Given the description of an element on the screen output the (x, y) to click on. 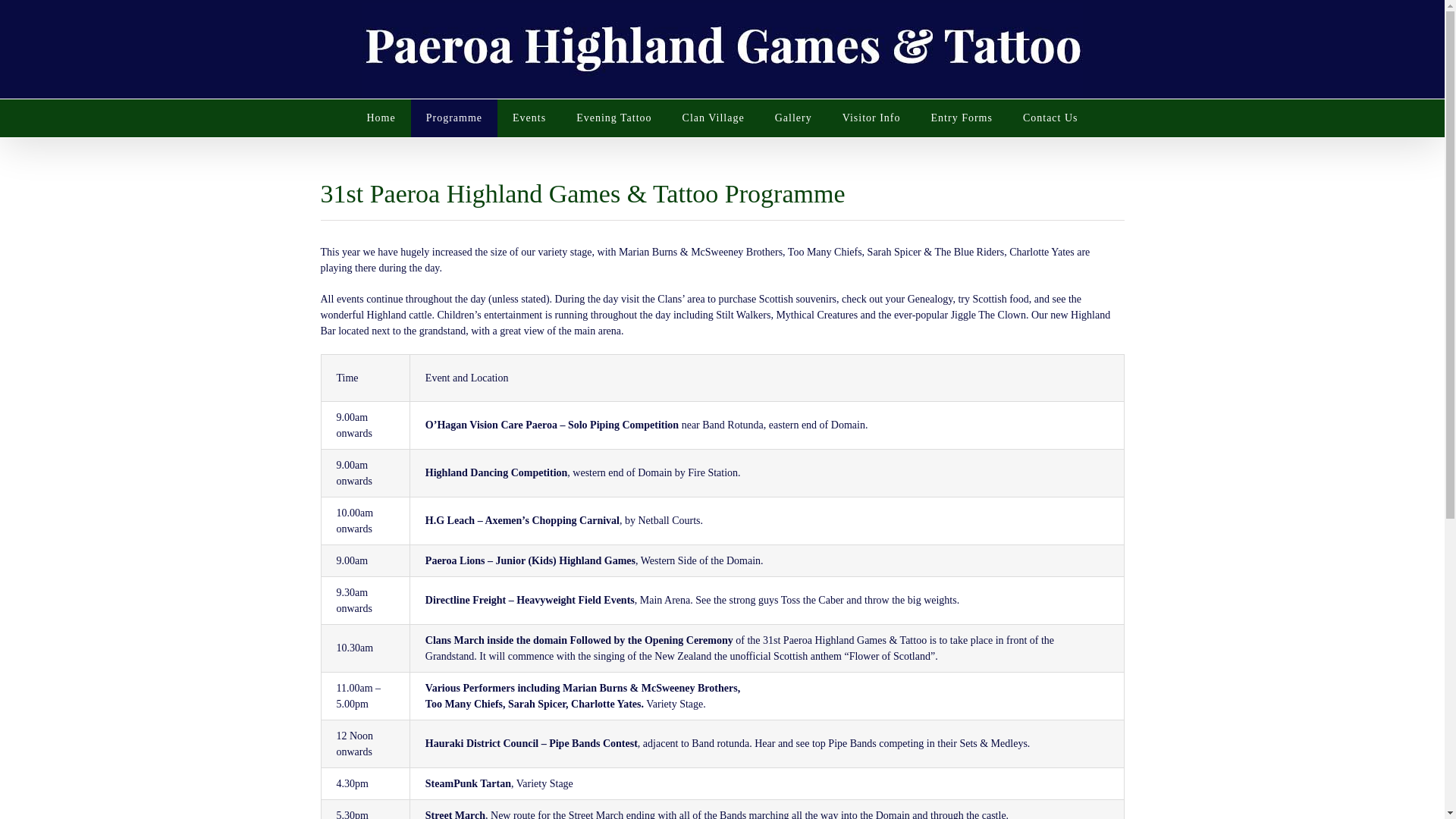
Gallery (793, 118)
Events (528, 118)
Visitor Info (871, 118)
Entry Forms (961, 118)
Contact Us (1050, 118)
Programme (453, 118)
Clan Village (713, 118)
Evening Tattoo (613, 118)
Home (380, 118)
